Given the description of an element on the screen output the (x, y) to click on. 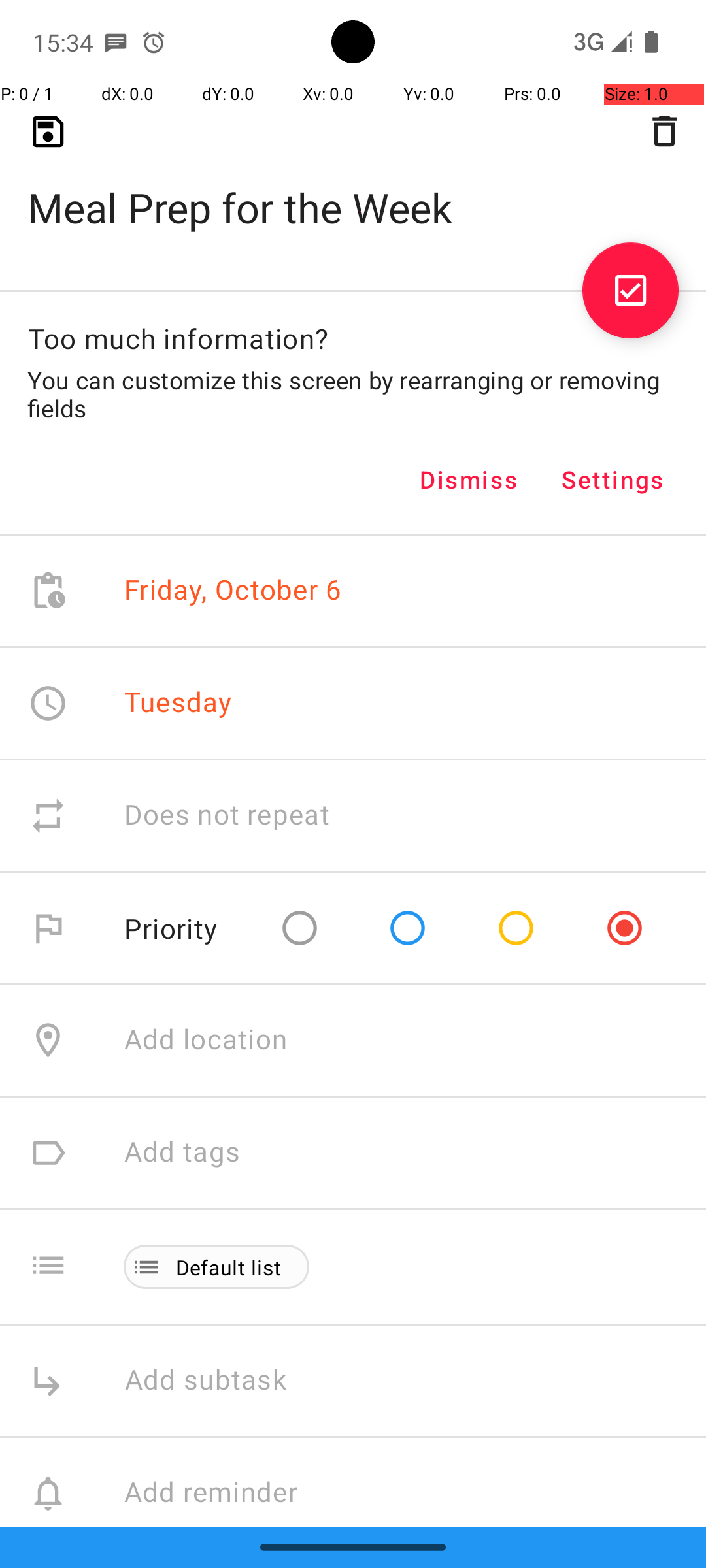
Friday, October 6 Element type: android.widget.TextView (232, 590)
